Given the description of an element on the screen output the (x, y) to click on. 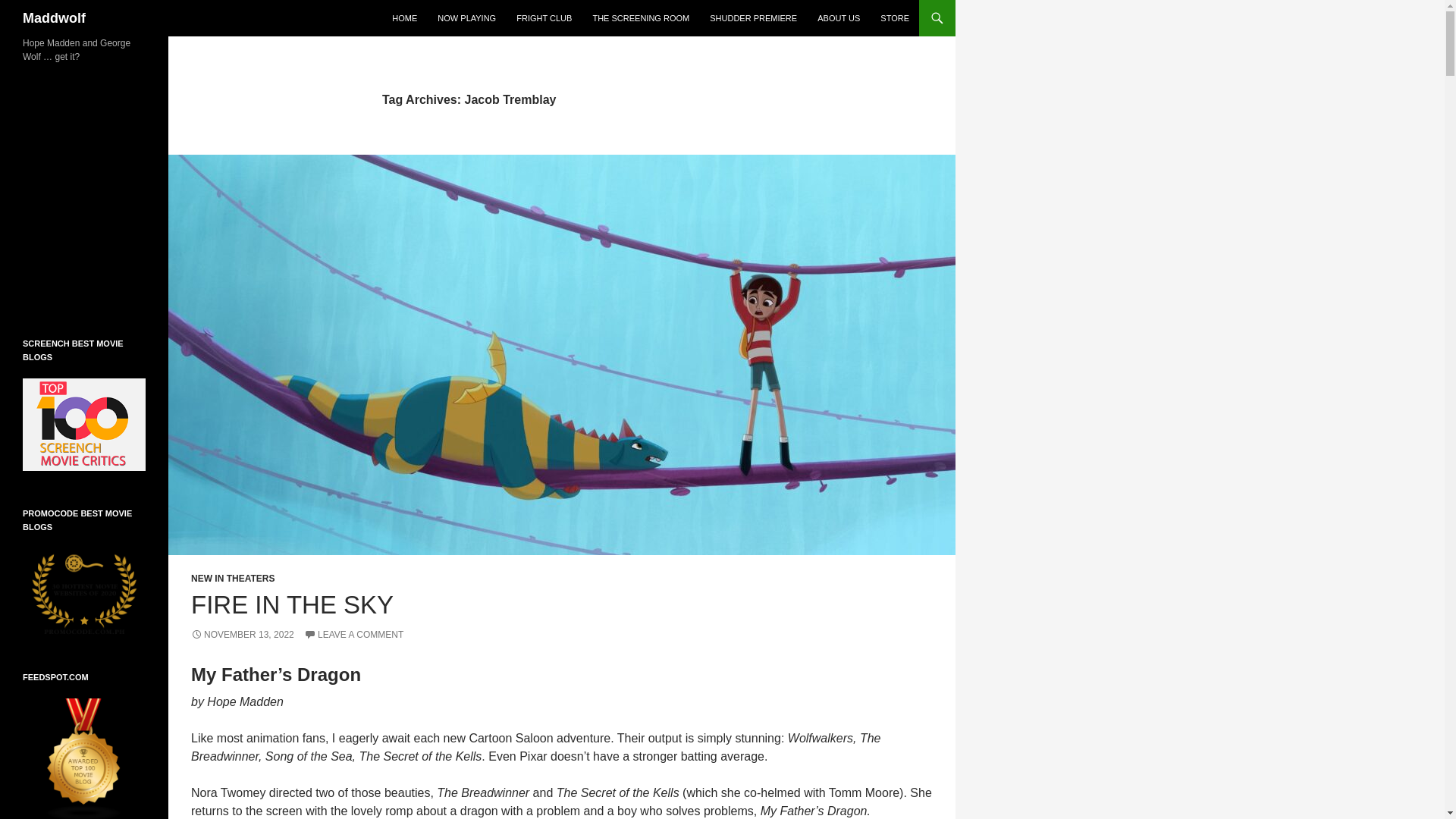
HOME (404, 18)
SHUDDER PREMIERE (753, 18)
LEAVE A COMMENT (353, 634)
FIRE IN THE SKY (291, 604)
NEW IN THEATERS (232, 578)
Maddwolf (54, 18)
STORE (894, 18)
THE SCREENING ROOM (640, 18)
NOW PLAYING (466, 18)
Movie blogs (84, 758)
FRIGHT CLUB (543, 18)
Banners for 30 Hottest Movie Websites of 2020 (84, 590)
ABOUT US (838, 18)
NOVEMBER 13, 2022 (242, 634)
